Given the description of an element on the screen output the (x, y) to click on. 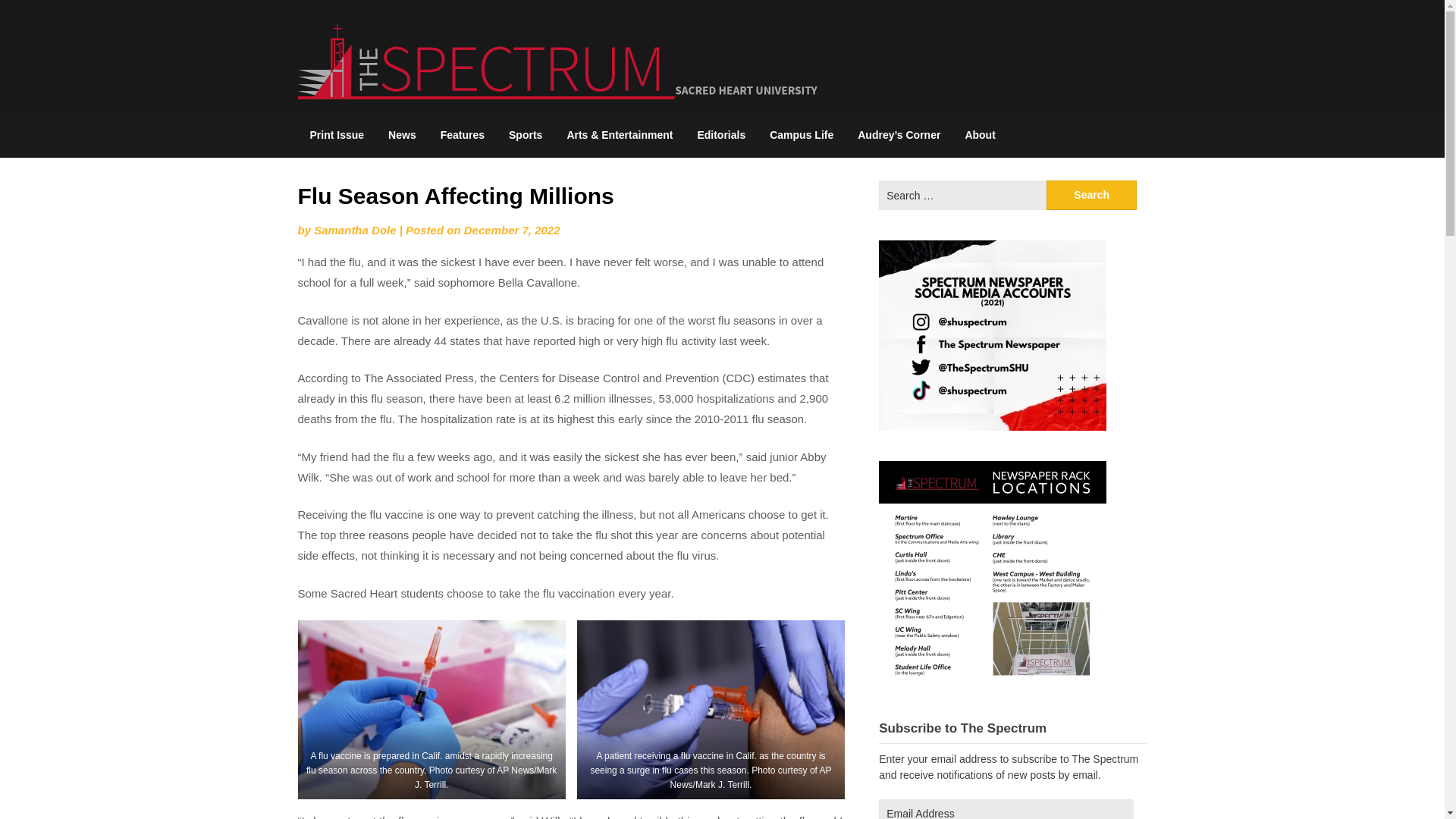
December 7, 2022 (512, 229)
Features (462, 135)
Search (1091, 194)
Print Issue (336, 135)
Samantha Dole (355, 229)
News (401, 135)
About (979, 135)
Search (1091, 194)
Sports (525, 135)
Campus Life (801, 135)
Search (1091, 194)
Editorials (720, 135)
